Given the description of an element on the screen output the (x, y) to click on. 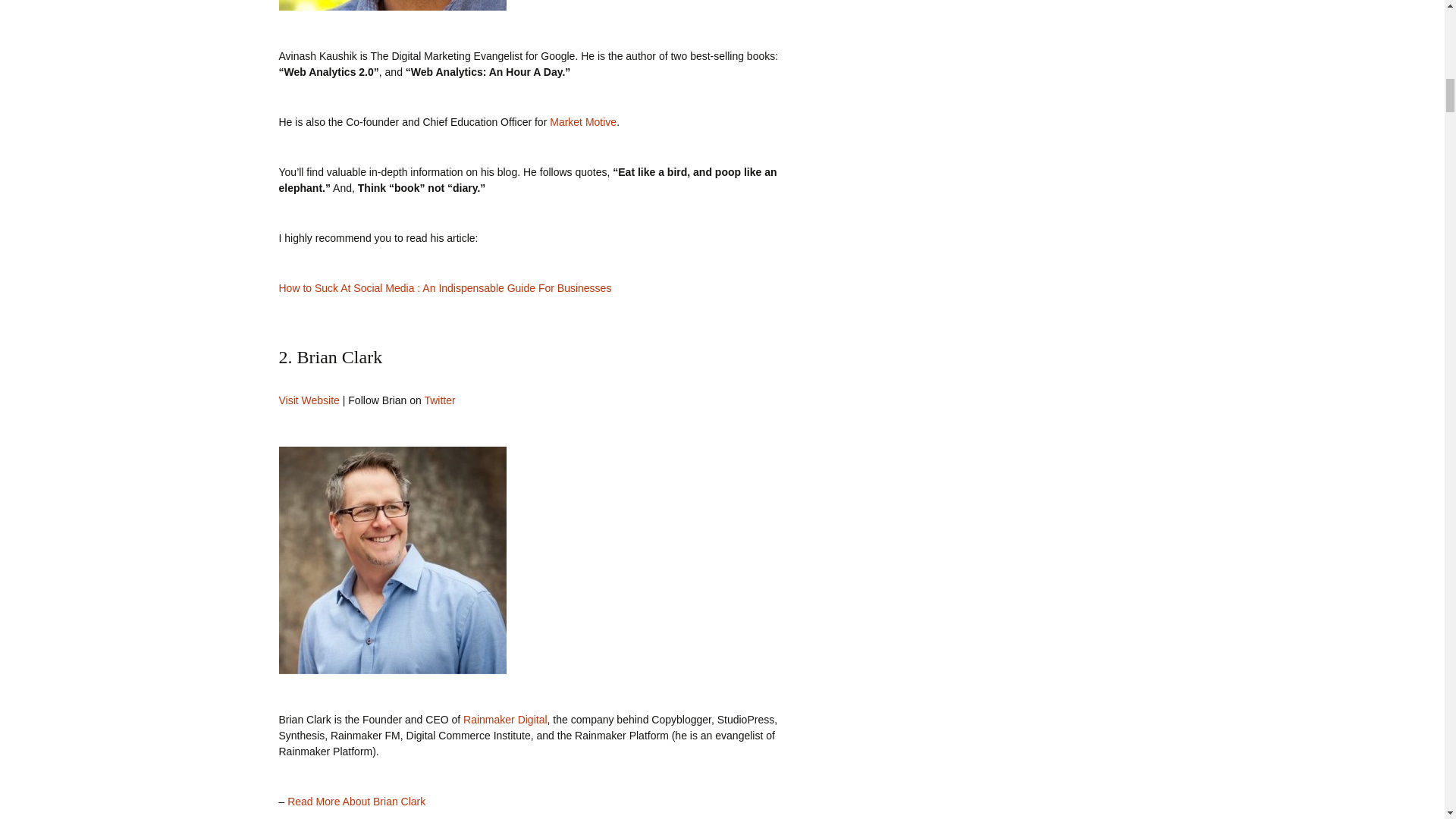
Read More About Brian Clark (355, 801)
Market Motive (582, 121)
Twitter (438, 399)
Visit Website (309, 399)
Rainmaker Digital (505, 719)
